Given the description of an element on the screen output the (x, y) to click on. 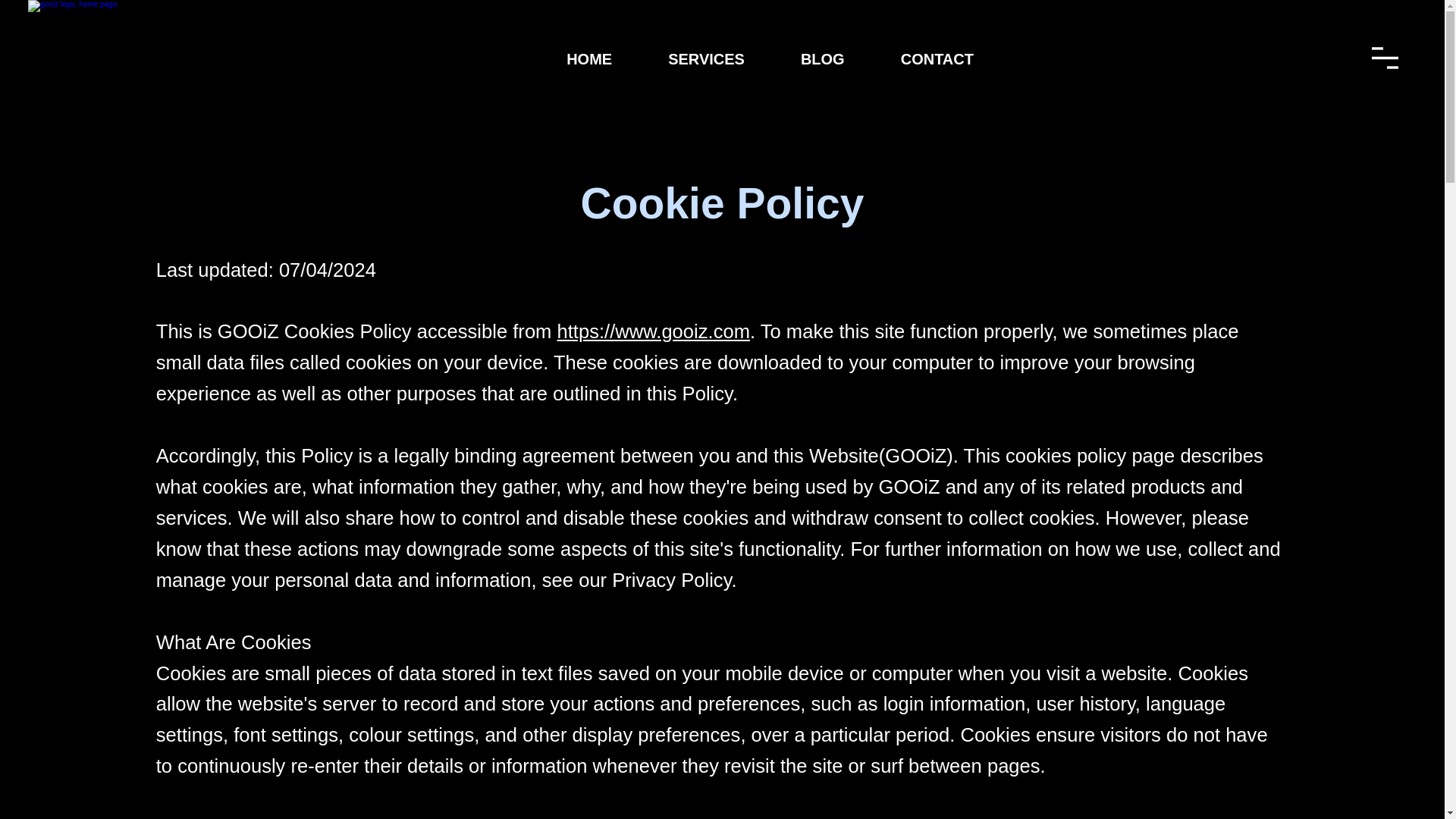
BLOG (822, 58)
CONTACT (936, 58)
HOME (588, 58)
